Given the description of an element on the screen output the (x, y) to click on. 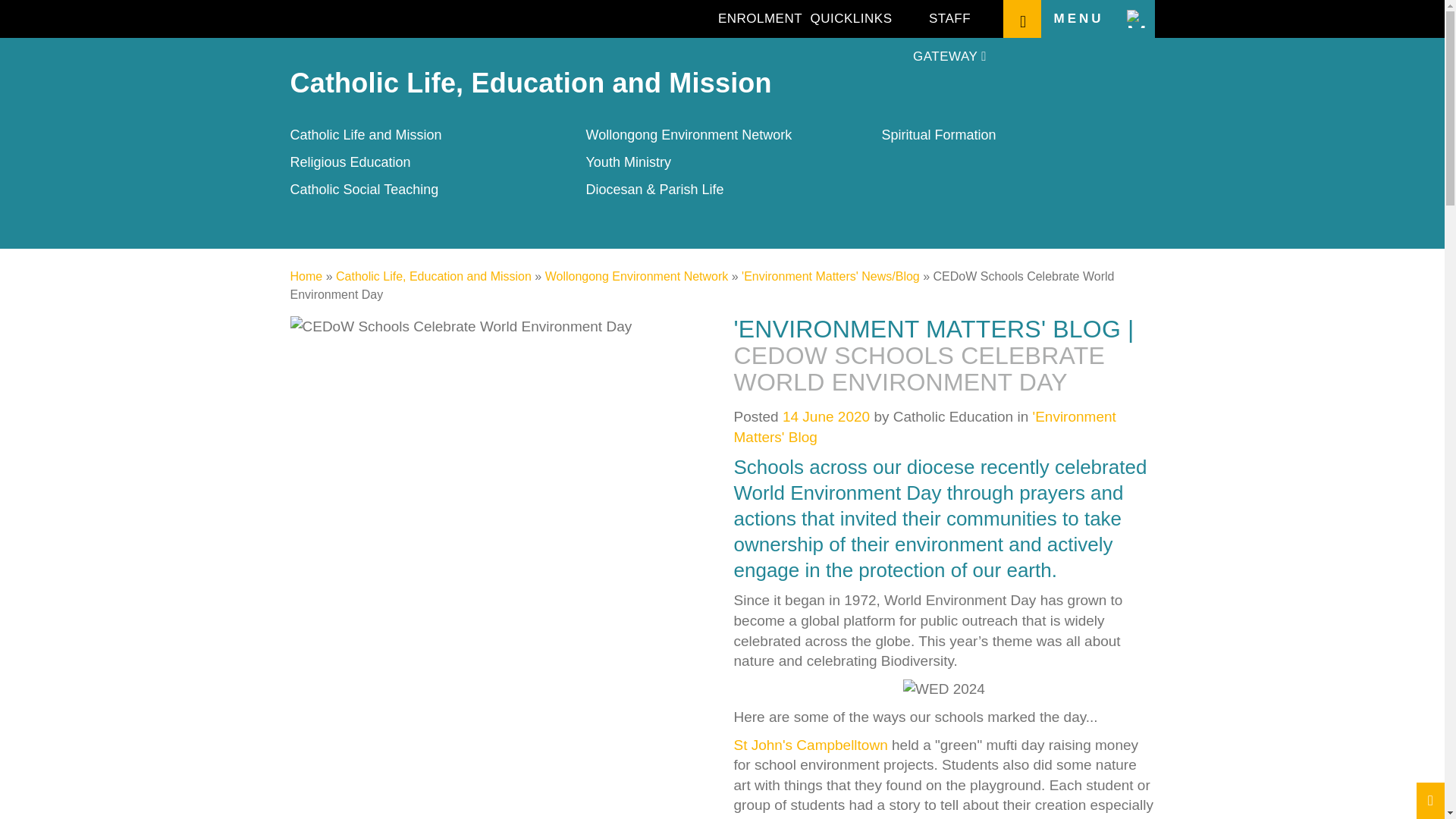
Catholic Social Teaching (363, 189)
St John's Campbelltown (810, 744)
STAFF GATEWAY (949, 18)
CATHOLIC EDUCATION DIOCESE OF WOLLONGONG (389, 19)
MENU (1097, 18)
ENROLMENT (759, 18)
QUICKLINKS (850, 18)
Youth Ministry (627, 161)
SEARCH (1022, 18)
Spiritual Formation (937, 134)
